Given the description of an element on the screen output the (x, y) to click on. 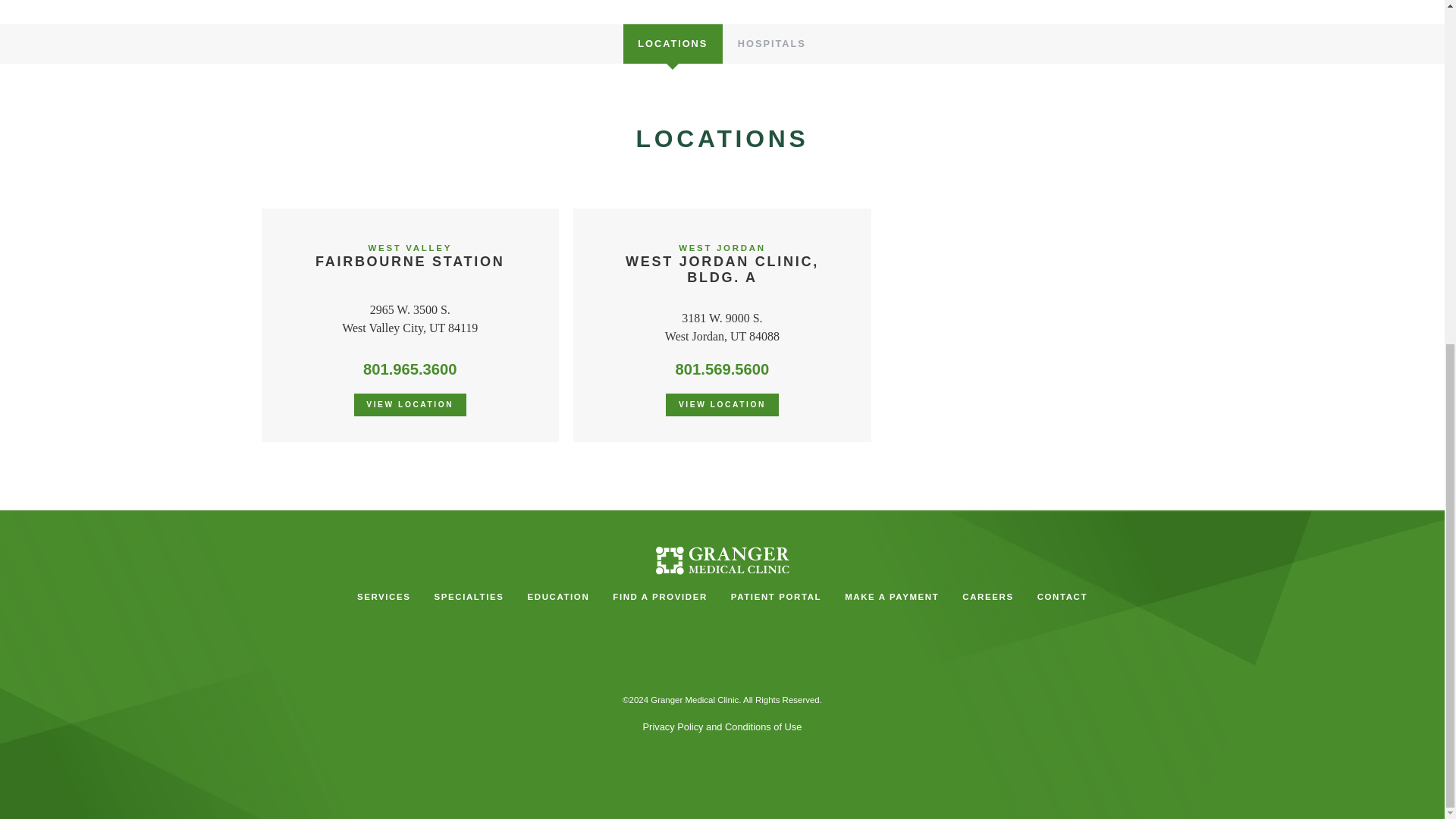
801.569.5600 (722, 369)
FIND A PROVIDER (660, 596)
801.965.3600 (409, 369)
VIEW LOCATION (721, 404)
EDUCATION (558, 596)
PATIENT PORTAL (722, 264)
CAREERS (409, 256)
LOCATIONS (775, 596)
MAKE A PAYMENT (988, 596)
SERVICES (672, 44)
SPECIALTIES (892, 596)
HOSPITALS (383, 596)
VIEW LOCATION (469, 596)
